Given the description of an element on the screen output the (x, y) to click on. 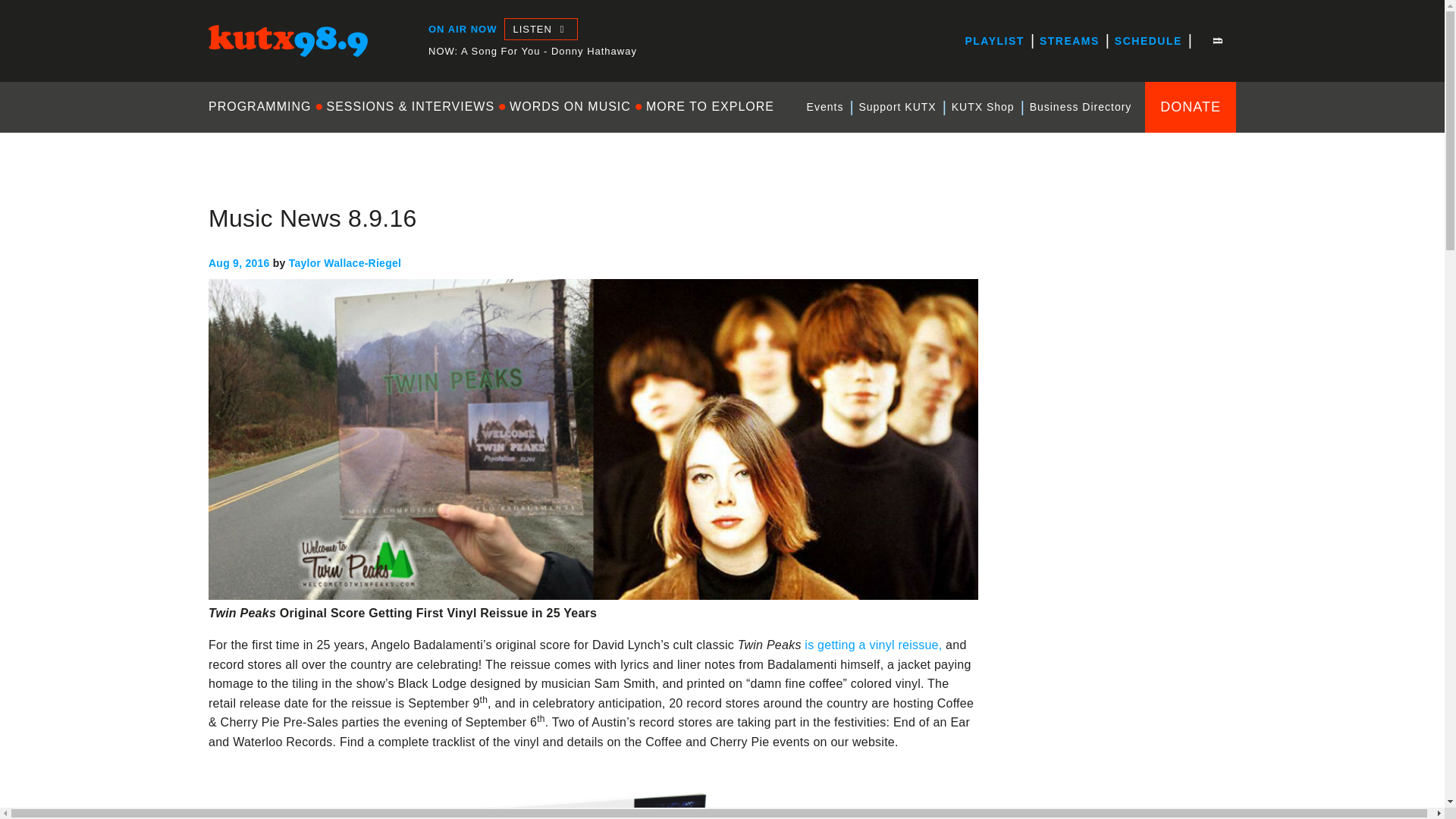
Support KUTX (896, 106)
STREAMS (1069, 40)
KUTX (224, 69)
Business Directory (1081, 106)
DONATE (1190, 106)
MORE TO EXPLORE (710, 106)
3rd party ad content (1122, 292)
3rd party ad content (1122, 701)
PROGRAMMING (263, 106)
PLAYLIST (993, 40)
KUTX Shop (982, 106)
WORDS ON MUSIC (570, 106)
LISTEN (539, 29)
SCHEDULE (1147, 40)
3rd party ad content (1122, 497)
